Given the description of an element on the screen output the (x, y) to click on. 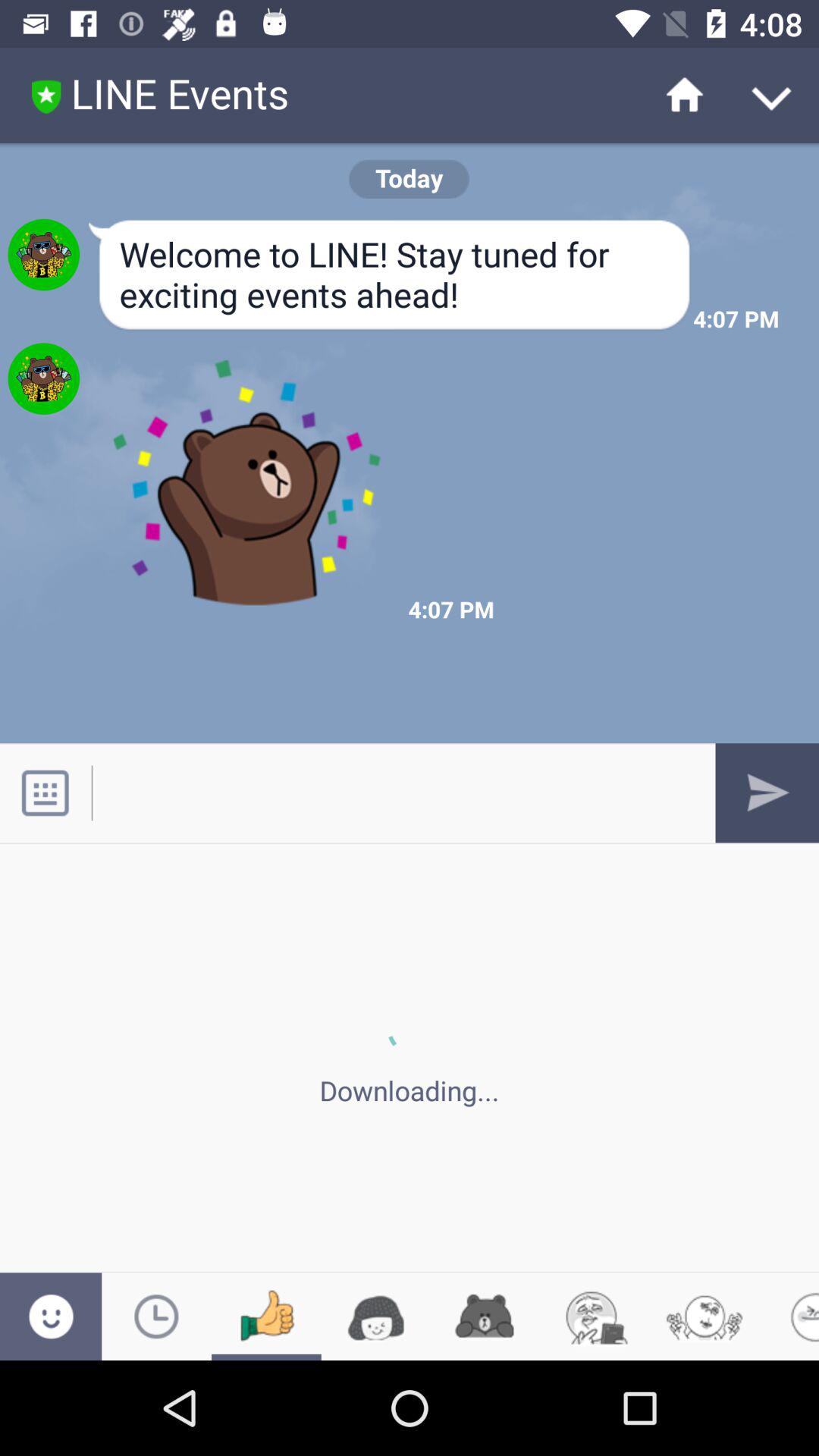
select the first image which is immediately below the line events (43, 254)
select timer at bottom left (156, 1316)
click on like emoji (266, 1315)
click on image below the text (247, 483)
click on home button (675, 95)
click the send button (767, 792)
click on sixth icon from bottom left (595, 1316)
